Given the description of an element on the screen output the (x, y) to click on. 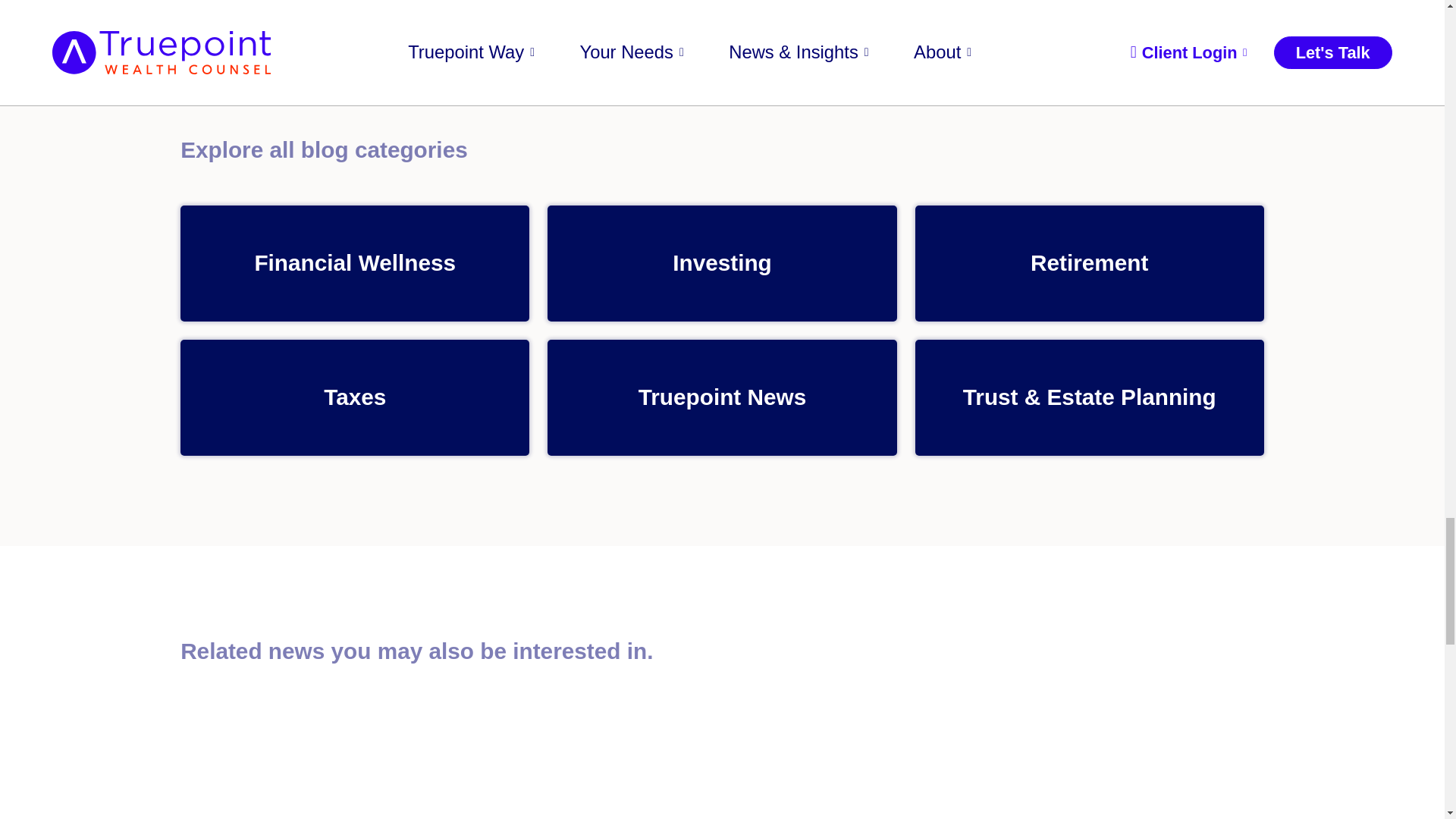
Related news you may also be interested in. (721, 651)
Retirement (1089, 263)
Truepoint News (721, 397)
Explore all blog categories (721, 150)
Taxes (354, 397)
Investing (721, 263)
Retirement (1089, 263)
Financial Wellness (354, 263)
Taxes (354, 397)
Financial Wellness (354, 263)
Investing (721, 263)
